Given the description of an element on the screen output the (x, y) to click on. 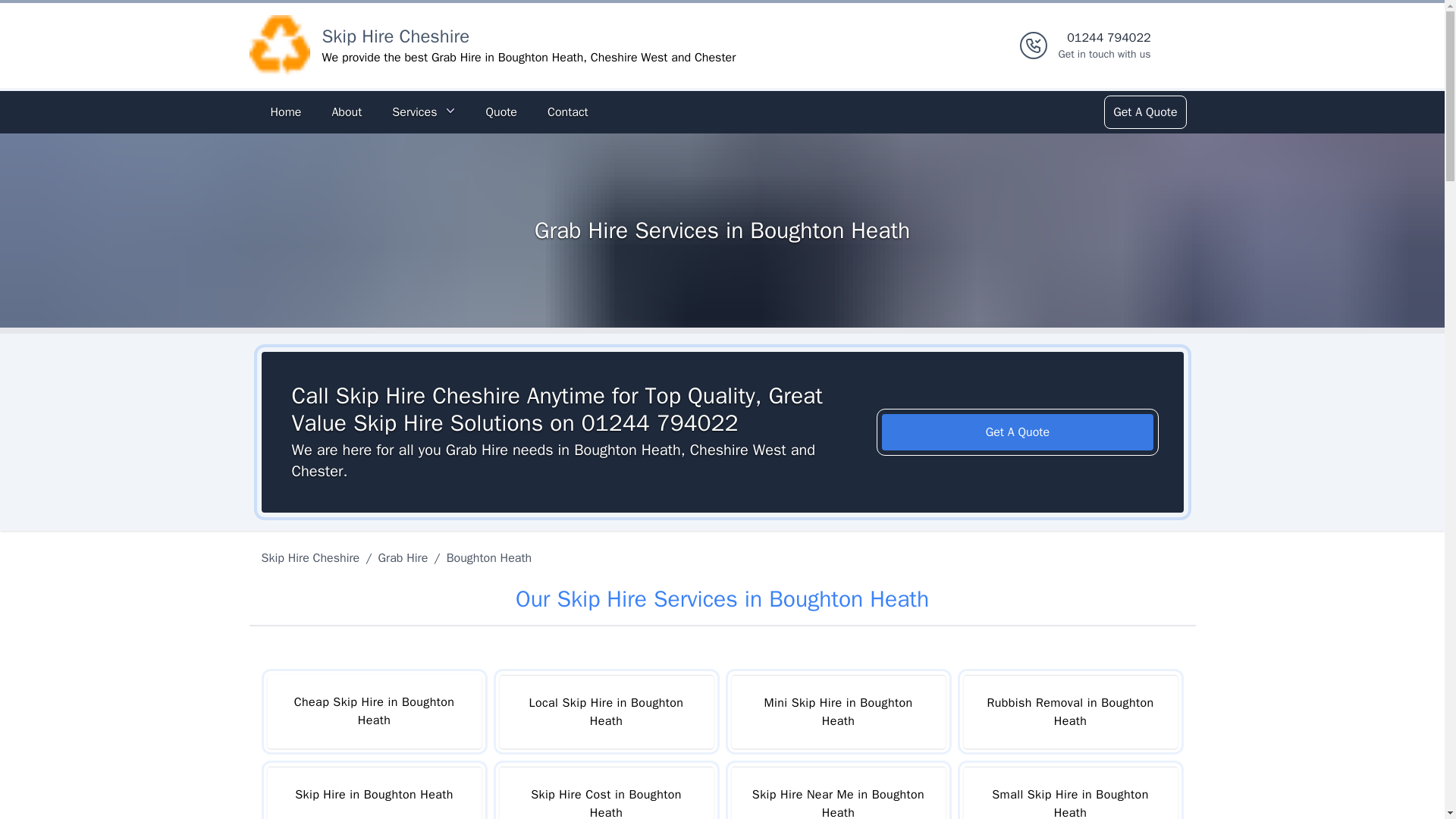
Skip Hire Cheshire (394, 36)
Skip Hire Cheshire (312, 557)
Grab Hire (402, 557)
Cheap Skip Hire in Boughton Heath (373, 711)
Logo (278, 45)
Local Skip Hire in Boughton Heath (606, 711)
Skip Hire in Boughton Heath (373, 792)
Mini Skip Hire in Boughton Heath (837, 711)
About (346, 112)
Get A Quote (1017, 432)
